Given the description of an element on the screen output the (x, y) to click on. 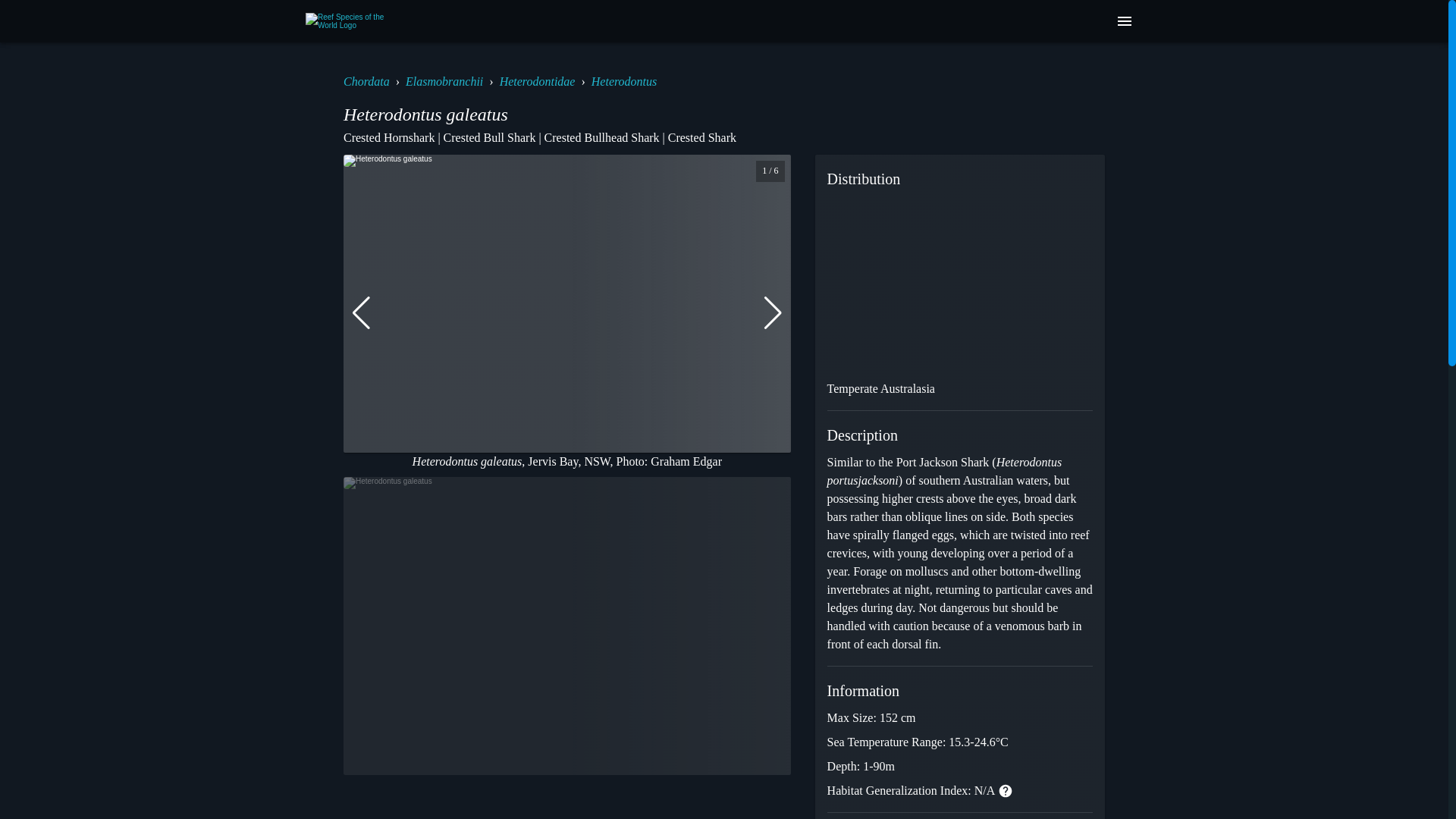
Heterodontus (624, 81)
Heterodontidae (537, 81)
Elasmobranchii (444, 81)
Chordata (366, 81)
